Given the description of an element on the screen output the (x, y) to click on. 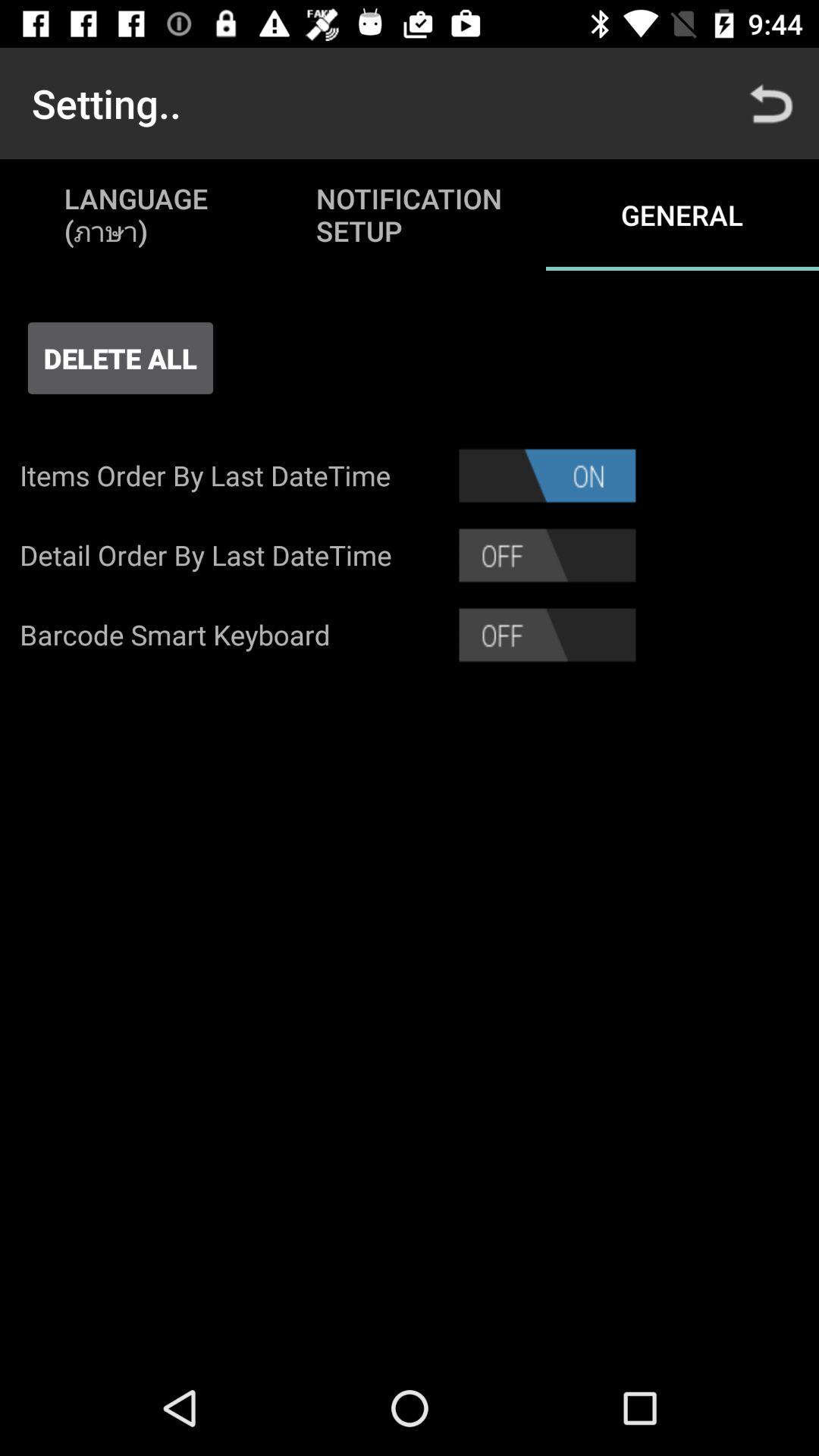
choose the icon below notification
setup (547, 475)
